Given the description of an element on the screen output the (x, y) to click on. 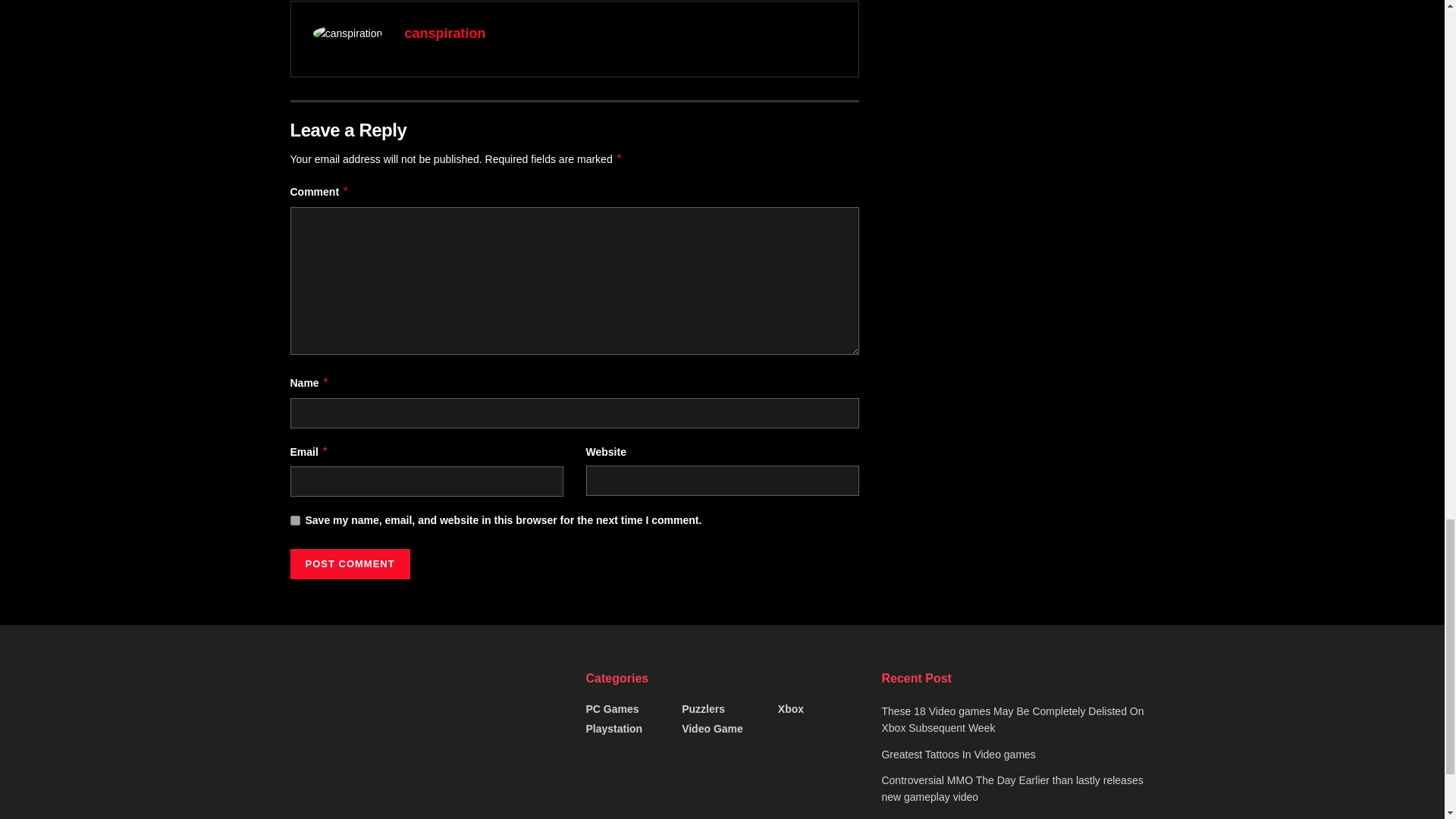
Post Comment (349, 563)
yes (294, 520)
